Given the description of an element on the screen output the (x, y) to click on. 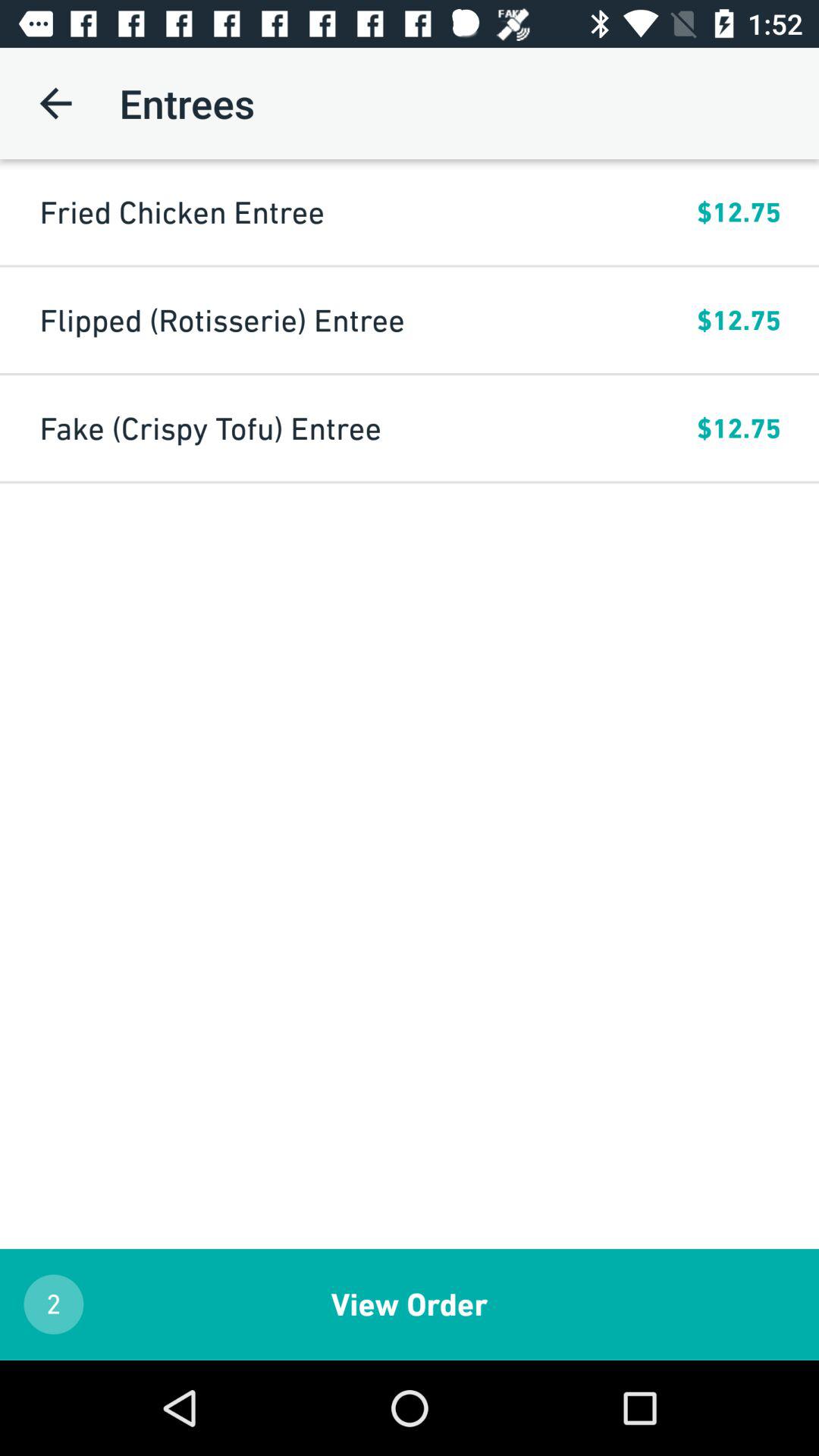
press the icon next to entrees item (55, 103)
